Given the description of an element on the screen output the (x, y) to click on. 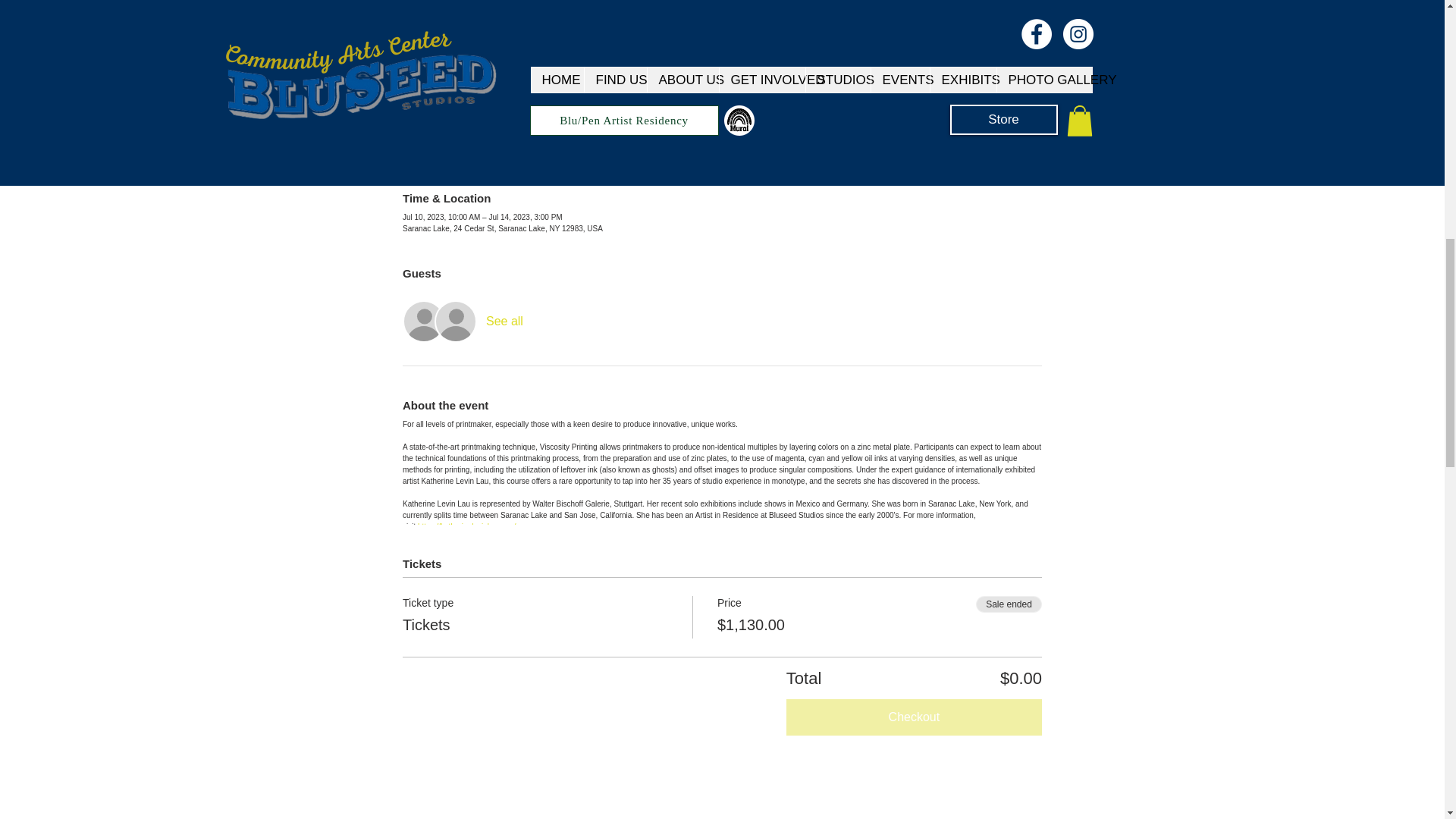
See all (504, 321)
Checkout (914, 717)
